Given the description of an element on the screen output the (x, y) to click on. 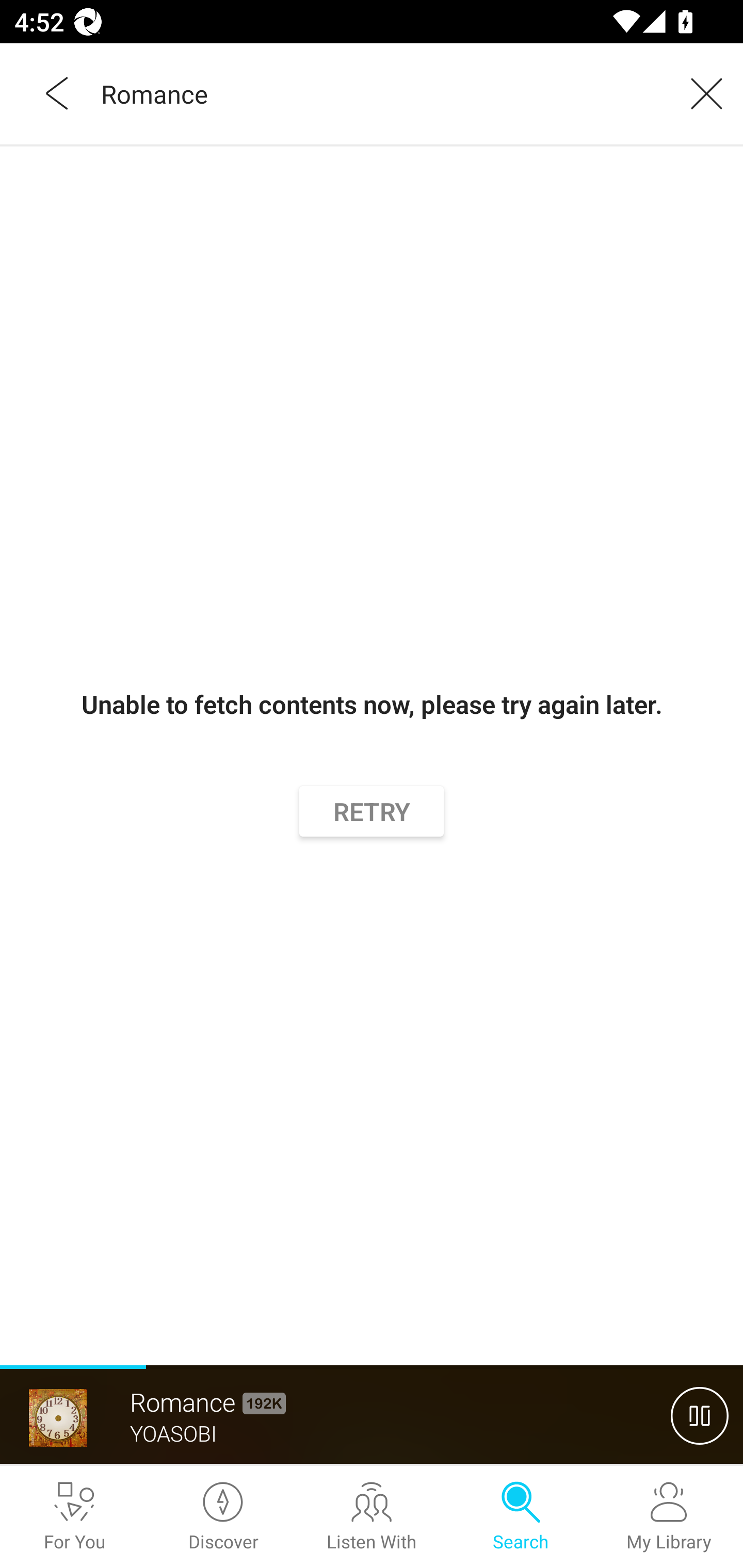
Romance (378, 92)
Clear query (699, 92)
Back,outside of the list (57, 93)
RETRY (371, 810)
暫停播放 (699, 1415)
For You (74, 1517)
Discover (222, 1517)
Listen With (371, 1517)
Search (519, 1517)
My Library (668, 1517)
